Given the description of an element on the screen output the (x, y) to click on. 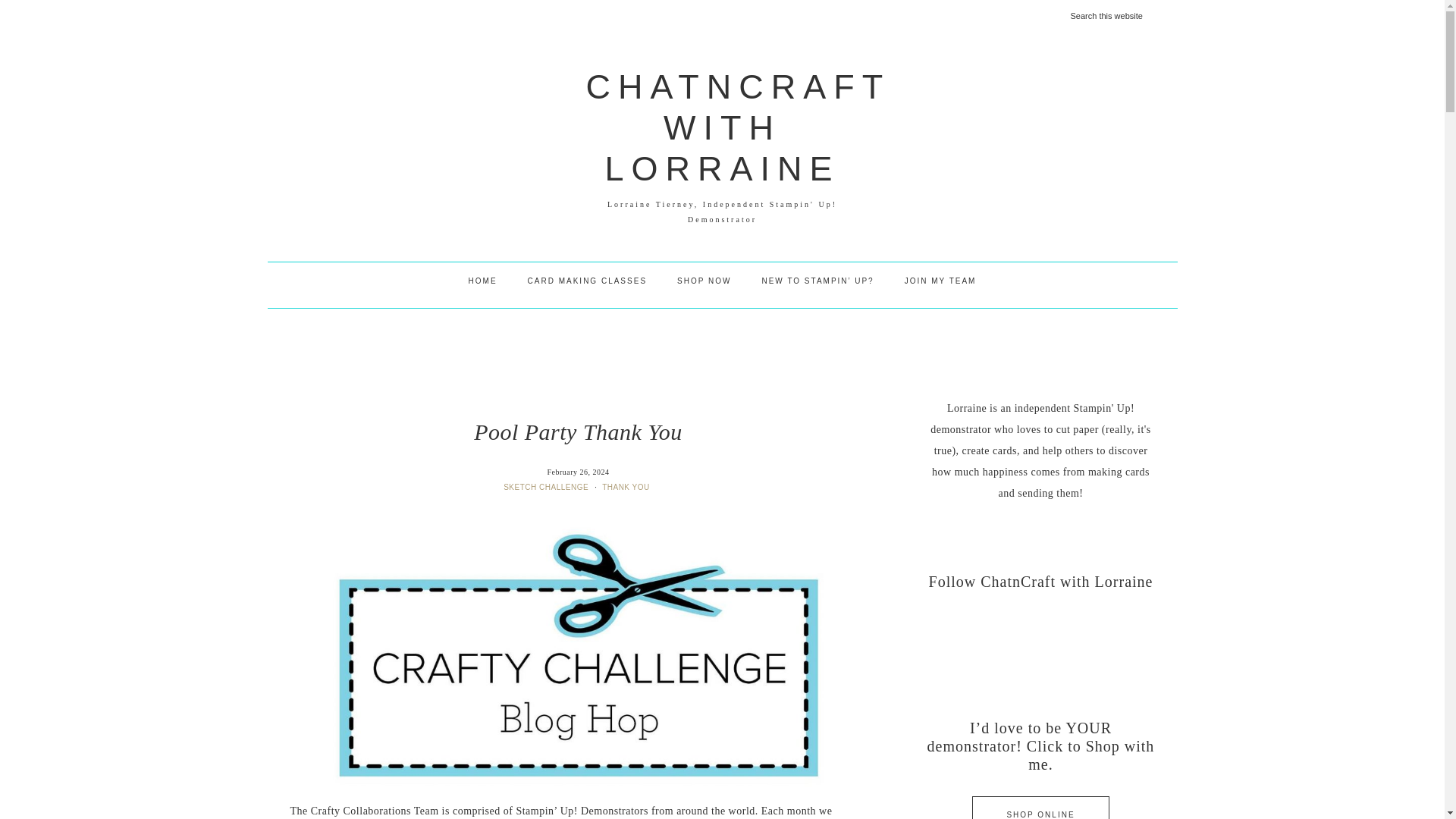
THANK YOU (627, 487)
CARD MAKING CLASSES (587, 281)
SHOP NOW (703, 281)
CHATNCRAFT WITH LORRAINE (737, 127)
JOIN MY TEAM (940, 281)
HOME (482, 281)
SKETCH CHALLENGE (547, 487)
